Given the description of an element on the screen output the (x, y) to click on. 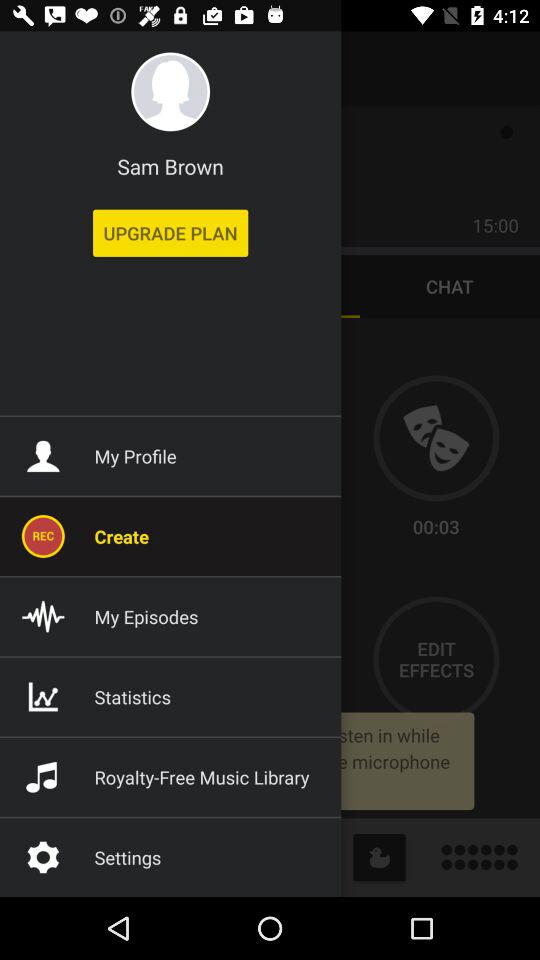
select sam brown (169, 166)
select the statistics icon (43, 696)
click on profile icon of sam brown (170, 91)
